Given the description of an element on the screen output the (x, y) to click on. 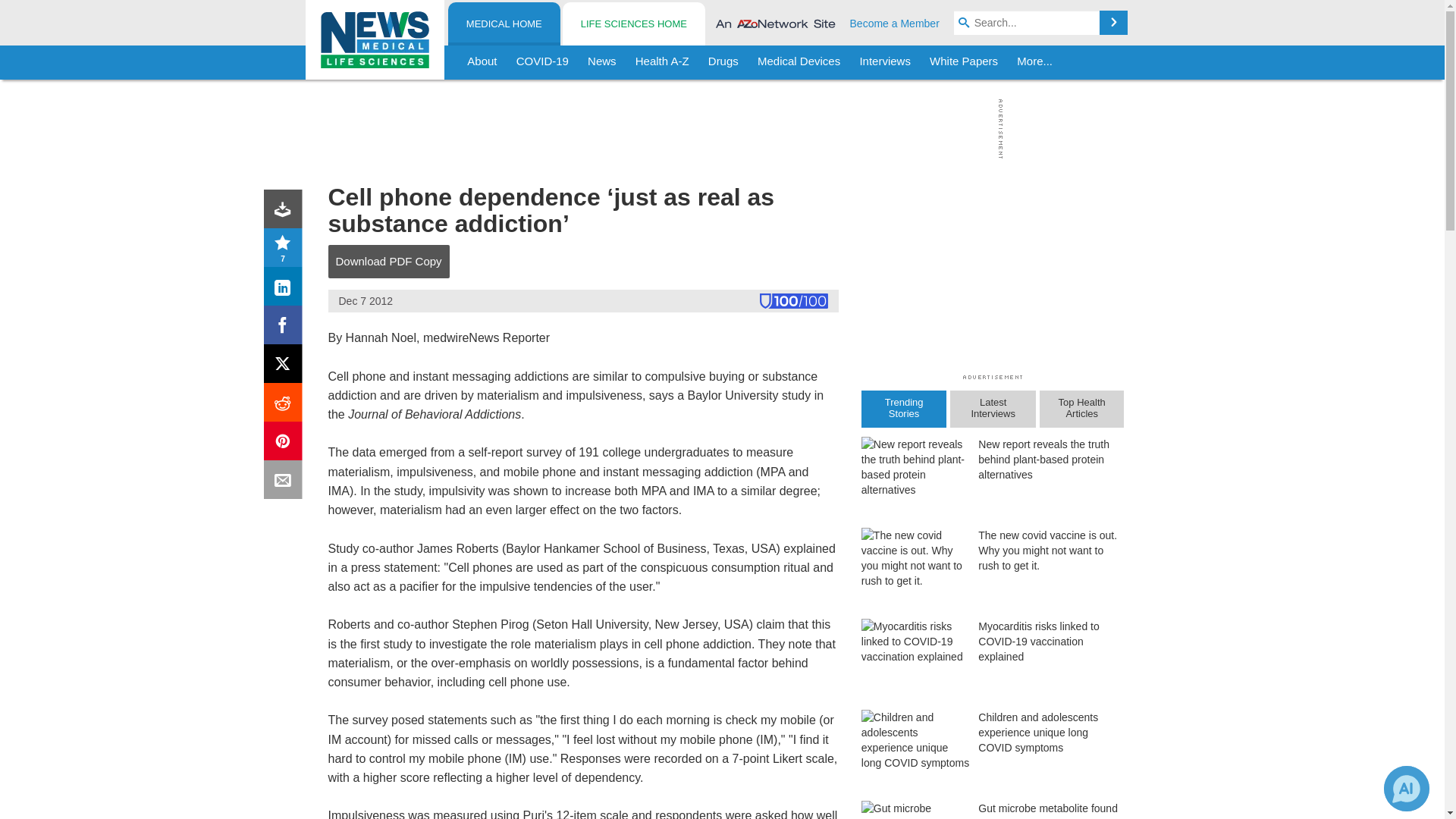
LIFE SCIENCES HOME (633, 23)
Email (285, 483)
MEDICAL HOME (504, 23)
COVID-19 (542, 62)
Search (1112, 22)
More... (1035, 62)
Rating (285, 250)
News (601, 62)
Drugs (722, 62)
About (482, 62)
